Given the description of an element on the screen output the (x, y) to click on. 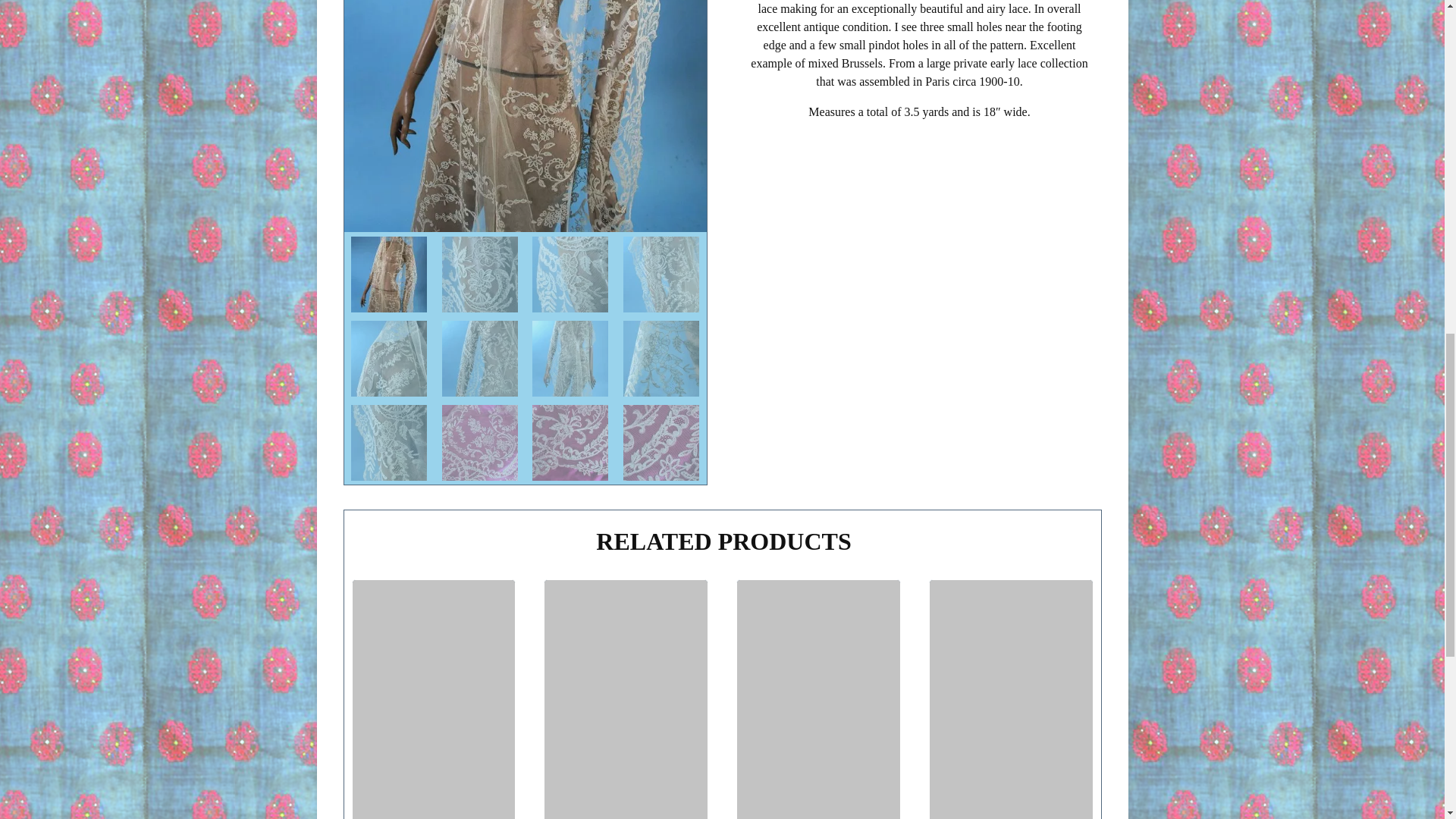
Antique Mixed Brussels Needlepoint and Bobbin Lace Flounce (524, 115)
